Given the description of an element on the screen output the (x, y) to click on. 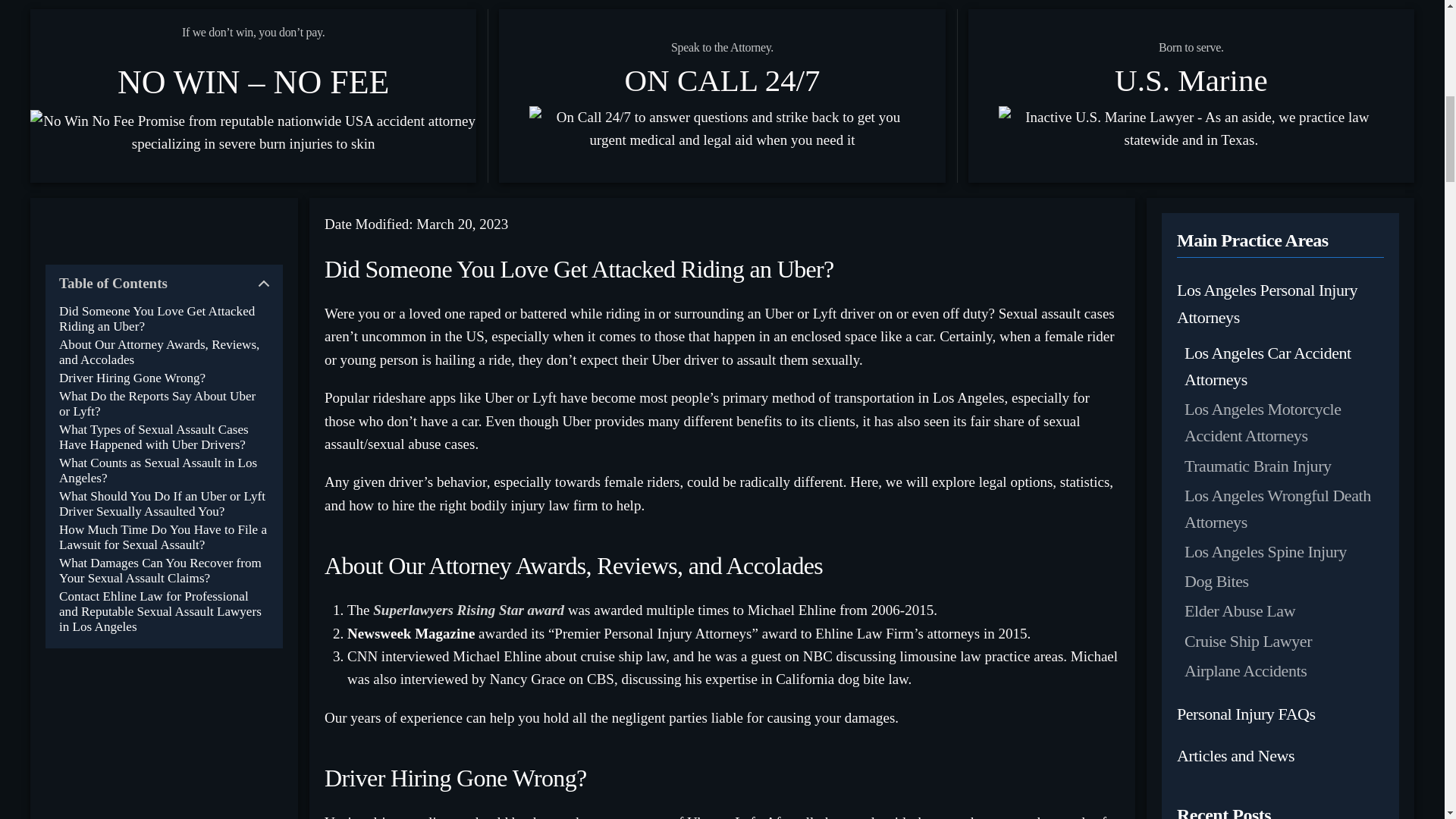
Driver Hiring Gone Wrong? (132, 378)
What Counts as Sexual Assault in Los Angeles? (164, 470)
Did Someone You Love Get Attacked Riding an Uber? (164, 318)
What Do the Reports Say About Uber or Lyft? (164, 404)
About Our Attorney Awards, Reviews, and Accolades (164, 352)
